Given the description of an element on the screen output the (x, y) to click on. 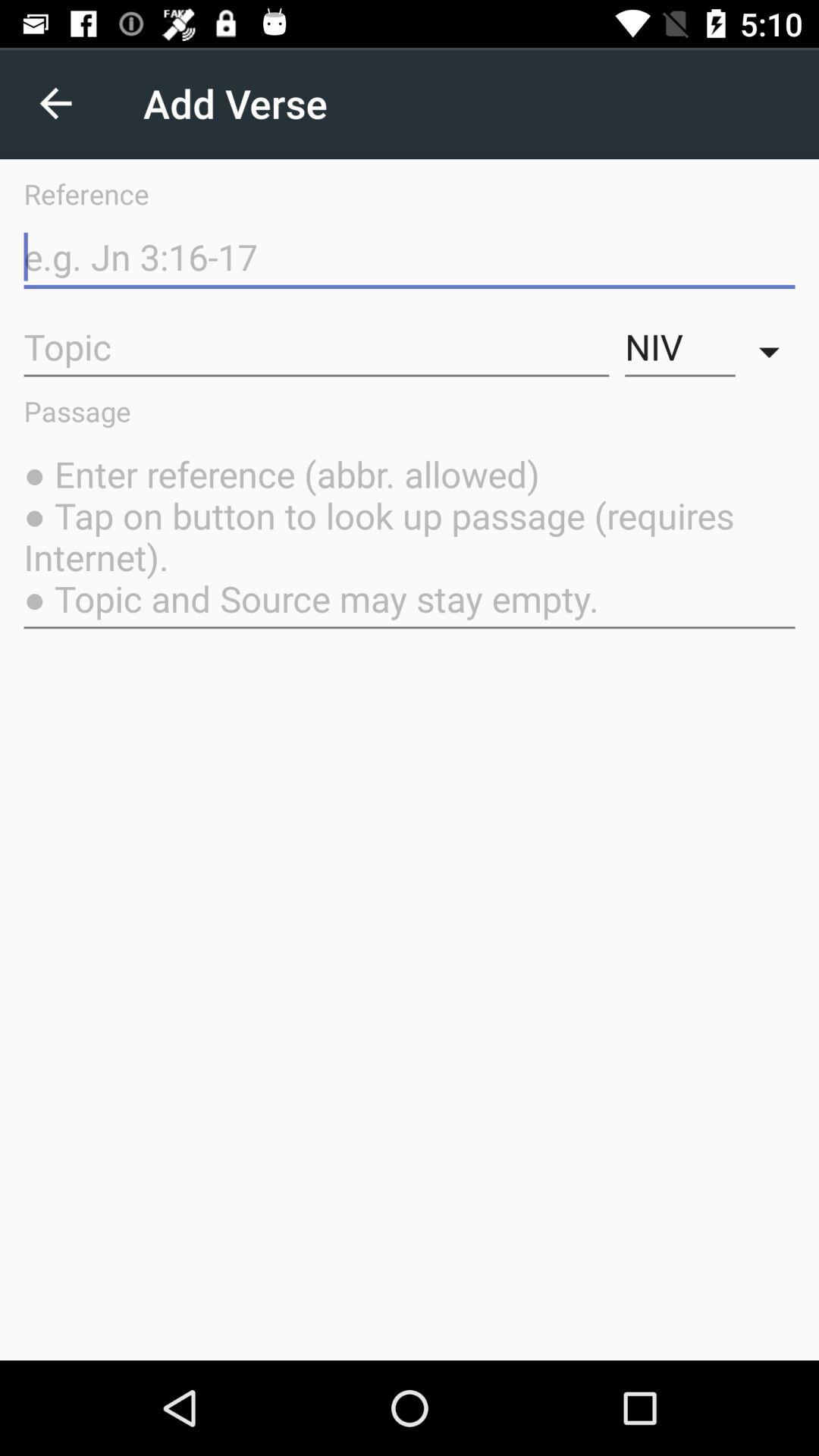
enter reference (409, 257)
